Given the description of an element on the screen output the (x, y) to click on. 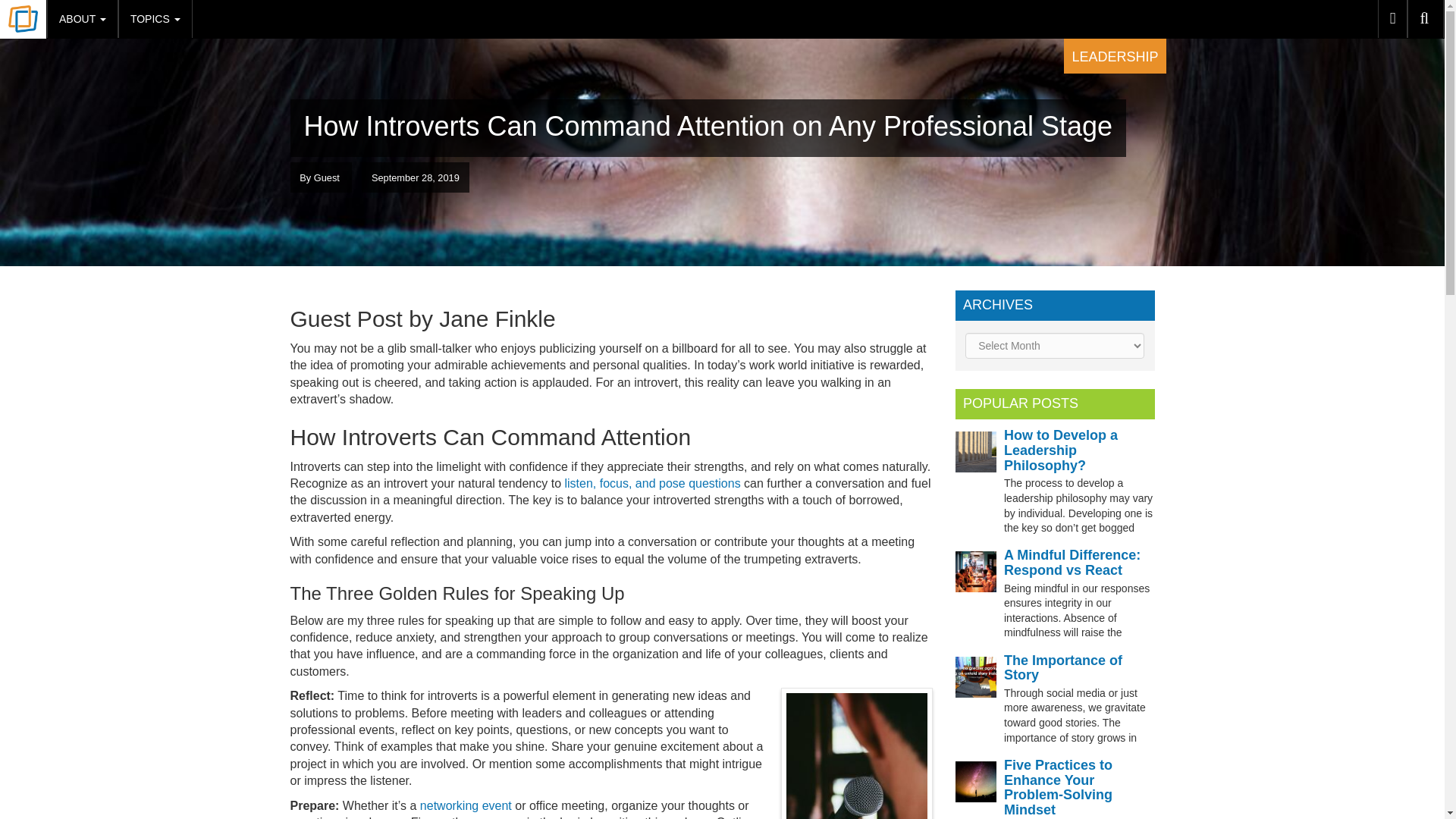
Thin Difference (23, 19)
TOPICS (154, 18)
FACEBOOK (1392, 18)
Search (1425, 18)
ABOUT (81, 18)
networking event (466, 805)
listen, focus, and pose questions (651, 482)
The Importance of Story (1063, 667)
A Mindful Difference: Respond vs React (1072, 562)
Five Practices to Enhance Your Problem-Solving Mindset (1058, 787)
Facebook (1392, 18)
How to Develop a Leadership Philosophy? (1061, 450)
 SEARCH (1425, 18)
LEADERSHIP (1114, 56)
Topics (154, 18)
